Given the description of an element on the screen output the (x, y) to click on. 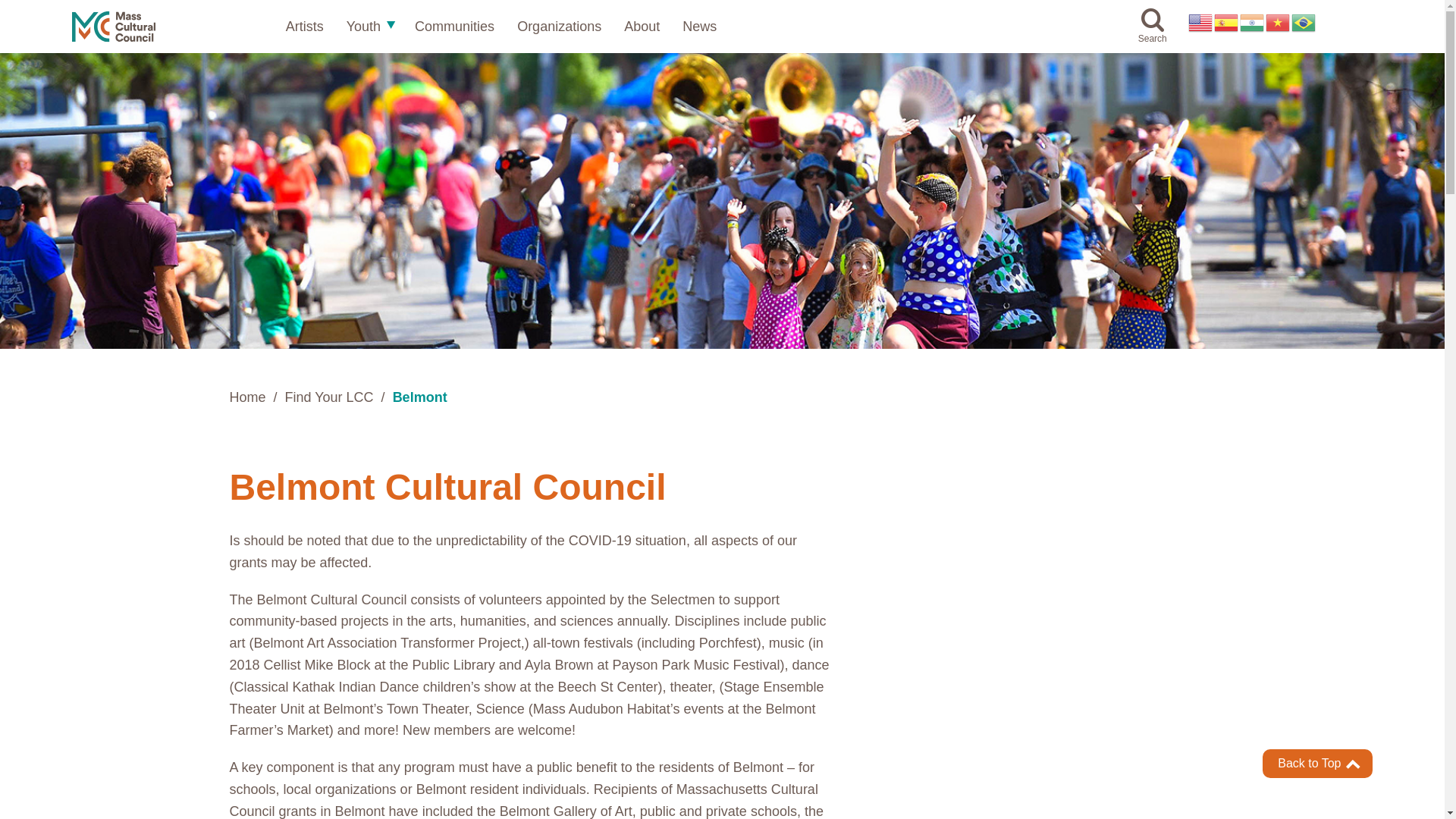
Communities (454, 26)
Youth (363, 26)
Vietnamese (1278, 22)
Home (247, 396)
News (699, 26)
Search (1153, 27)
Artists (304, 26)
Spanish (1227, 22)
English (1201, 22)
About (641, 26)
Organizations (558, 26)
Portuguese (1304, 22)
Find Your LCC (329, 396)
Hindi (1252, 22)
